Given the description of an element on the screen output the (x, y) to click on. 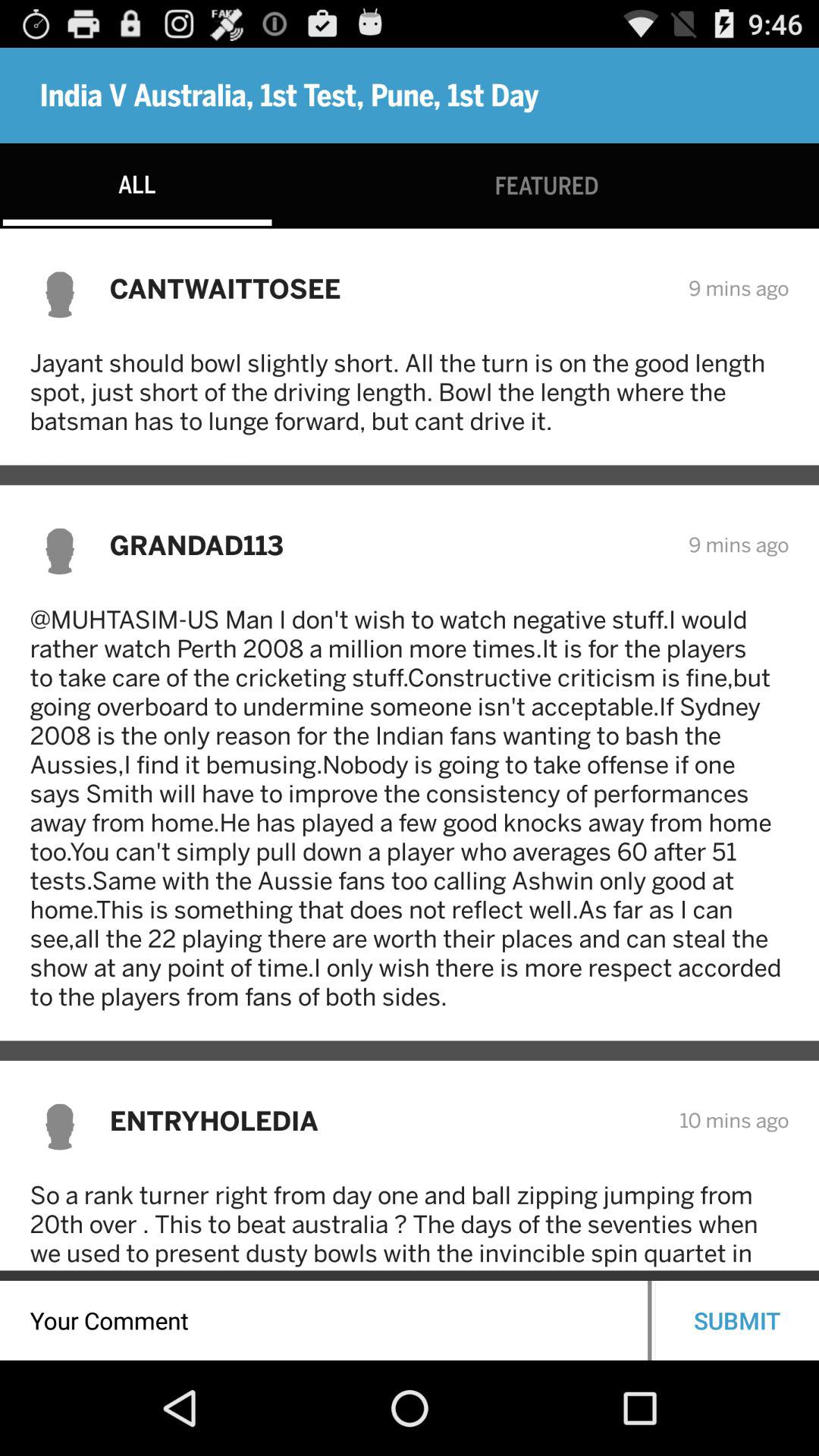
press the entryholedia item (384, 1120)
